Given the description of an element on the screen output the (x, y) to click on. 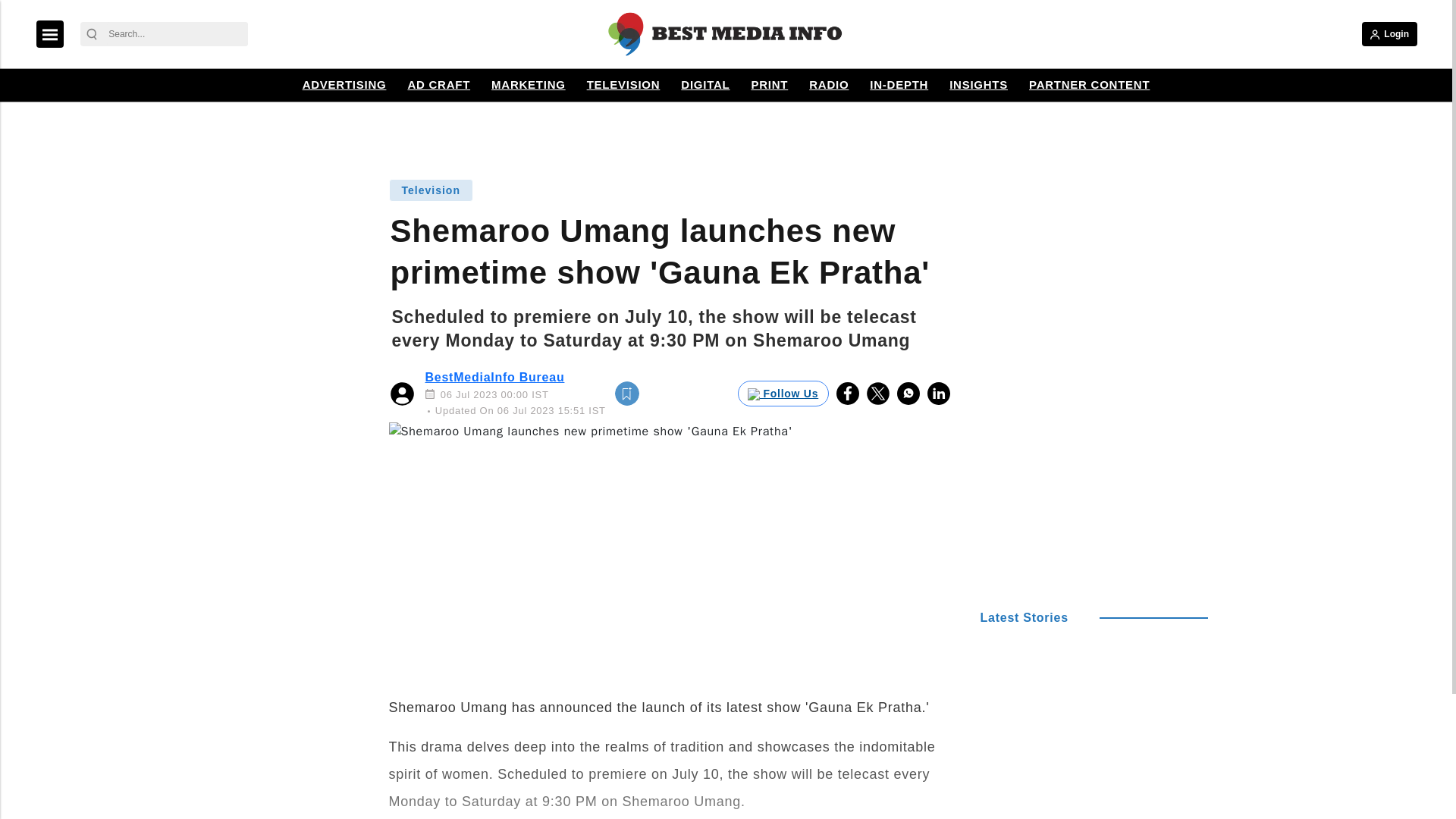
PARTNER CONTENT (1088, 84)
RADIO (828, 84)
Follow Us (782, 393)
ADVERTISING (344, 84)
PRINT (769, 84)
MARKETING (528, 84)
Television (429, 190)
IN-DEPTH (898, 84)
DIGITAL (705, 84)
AD CRAFT (438, 84)
TELEVISION (622, 84)
BestMediaInfo Bureau (494, 377)
Login (1388, 33)
INSIGHTS (978, 84)
